Given the description of an element on the screen output the (x, y) to click on. 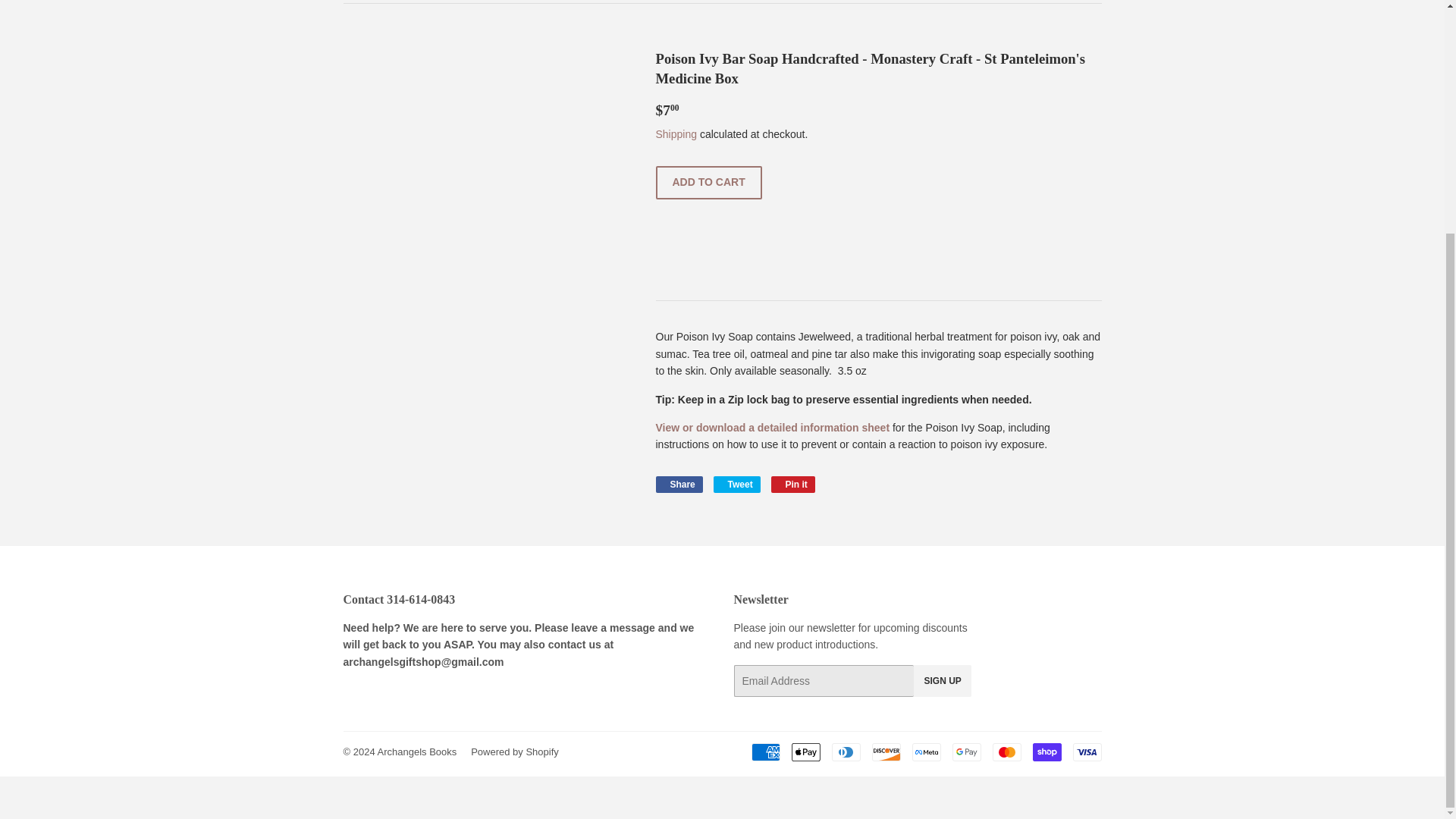
Google Pay (966, 751)
Share on Facebook (678, 484)
Back to the frontpage (358, 1)
Pin on Pinterest (793, 484)
Shop Pay (1046, 751)
Discover (886, 751)
Visa (1085, 751)
American Express (764, 751)
Apple Pay (806, 751)
Meta Pay (925, 751)
